Given the description of an element on the screen output the (x, y) to click on. 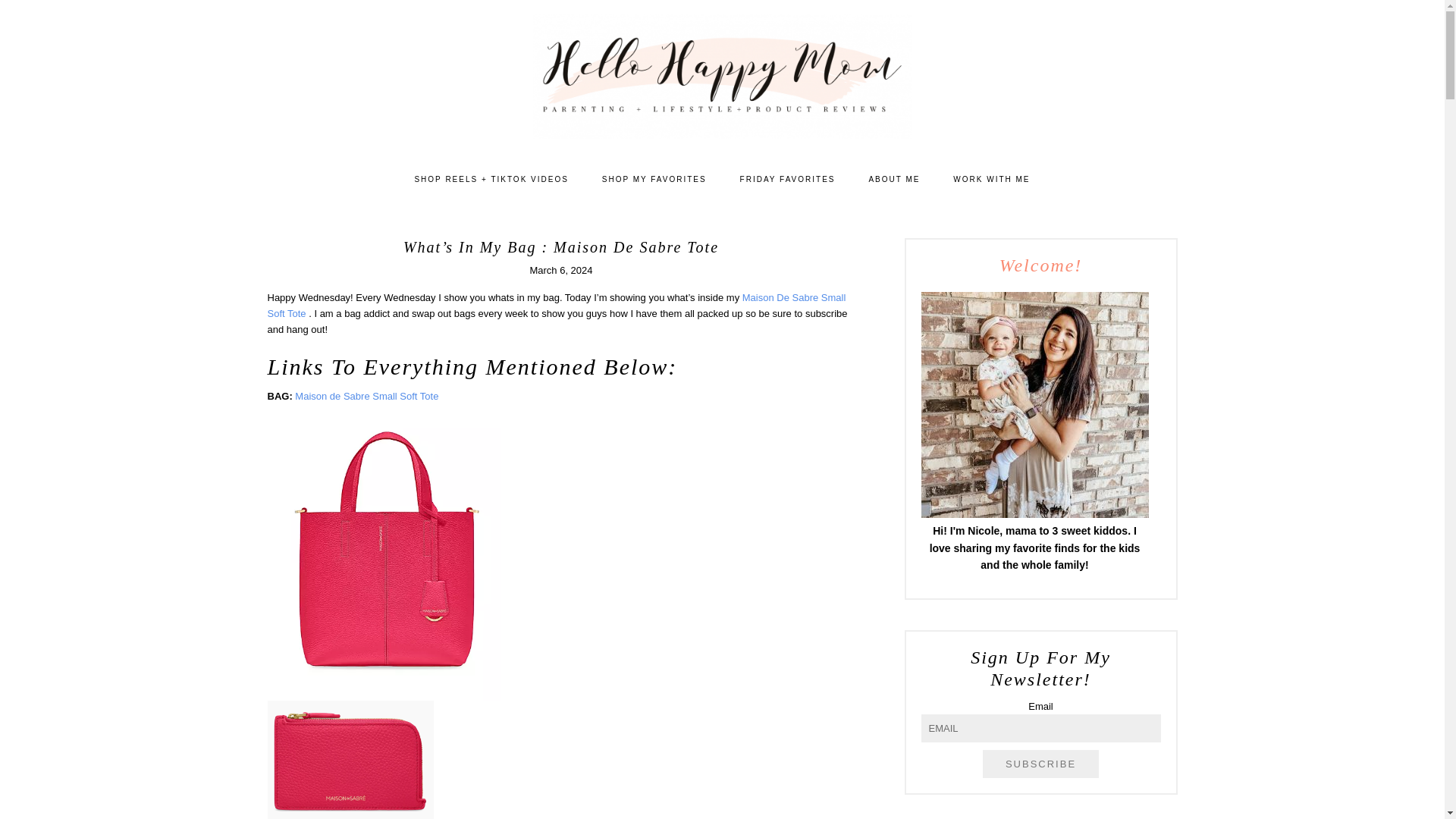
Welcome! (1034, 404)
FRIDAY FAVORITES (787, 179)
ABOUT ME (893, 179)
Hello Happy Mom Blog (721, 75)
Maison de Sabre Small Soft Tote (366, 395)
Maison De Sabre Small Soft Tote (555, 305)
WORK WITH ME (991, 179)
SHOP MY FAVORITES (654, 179)
